Given the description of an element on the screen output the (x, y) to click on. 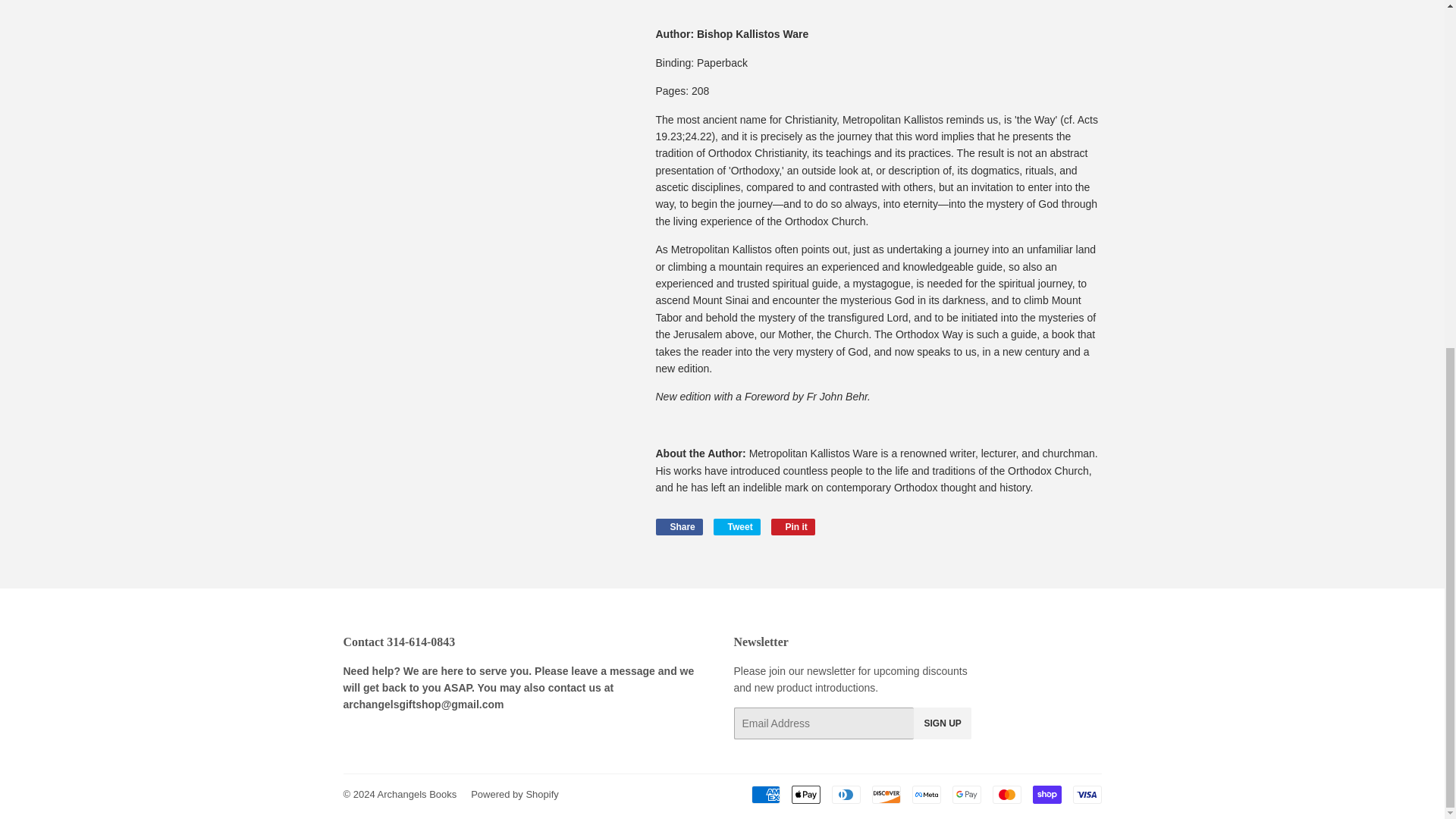
Tweet on Twitter (736, 526)
Google Pay (966, 794)
Share on Facebook (678, 526)
Mastercard (1005, 794)
Meta Pay (925, 794)
Apple Pay (806, 794)
Diners Club (845, 794)
Pin on Pinterest (793, 526)
Discover (886, 794)
Visa (1085, 794)
American Express (764, 794)
Shop Pay (1046, 794)
